Given the description of an element on the screen output the (x, y) to click on. 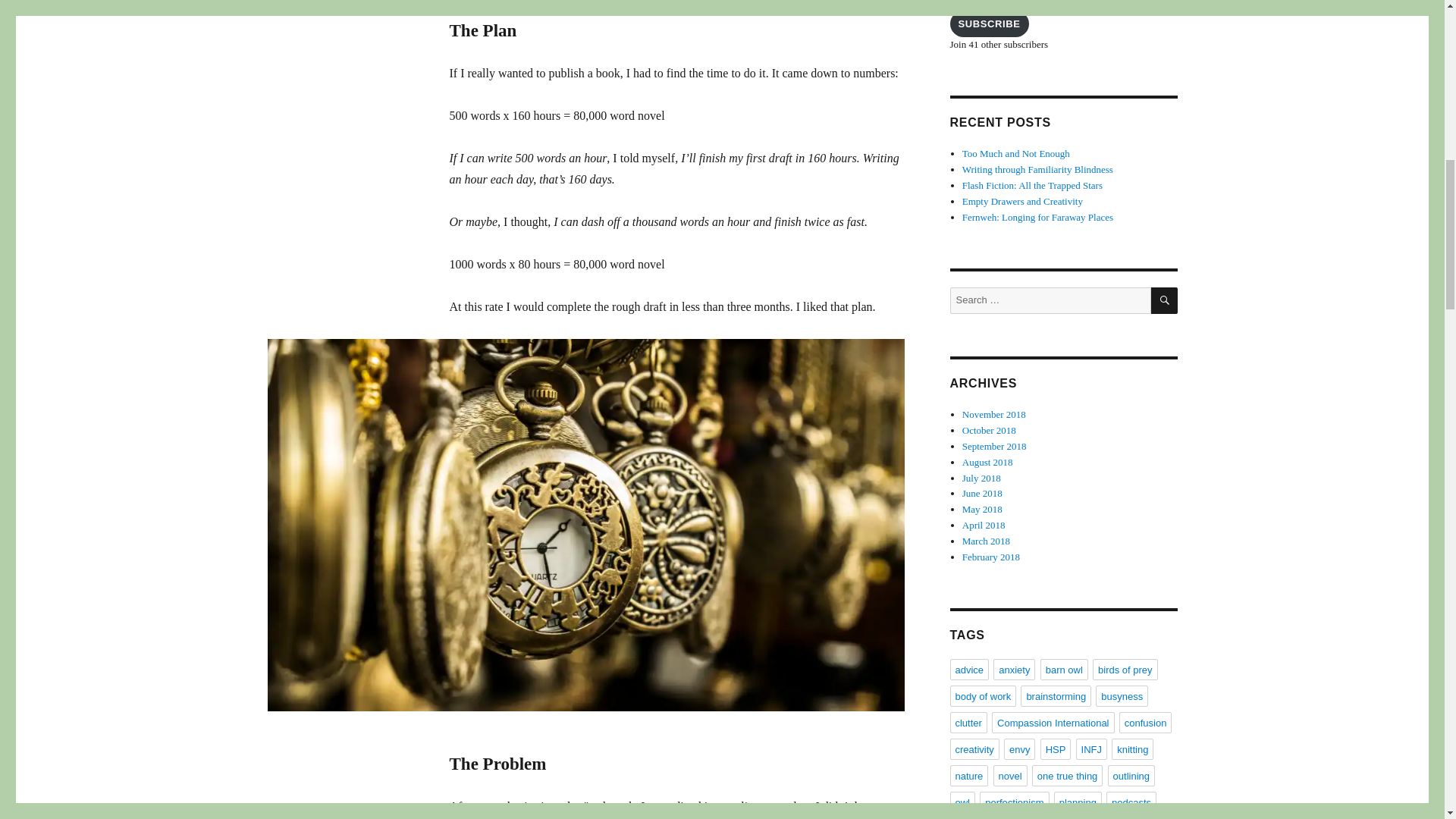
May 2018 (982, 509)
September 2018 (994, 446)
SUBSCRIBE (988, 23)
March 2018 (986, 541)
July 2018 (981, 477)
November 2018 (994, 414)
April 2018 (984, 524)
Writing through Familiarity Blindness (1037, 169)
October 2018 (989, 430)
Empty Drawers and Creativity (1022, 201)
Flash Fiction: All the Trapped Stars (1032, 184)
SEARCH (1164, 300)
August 2018 (987, 461)
June 2018 (982, 492)
Too Much and Not Enough (1016, 153)
